Given the description of an element on the screen output the (x, y) to click on. 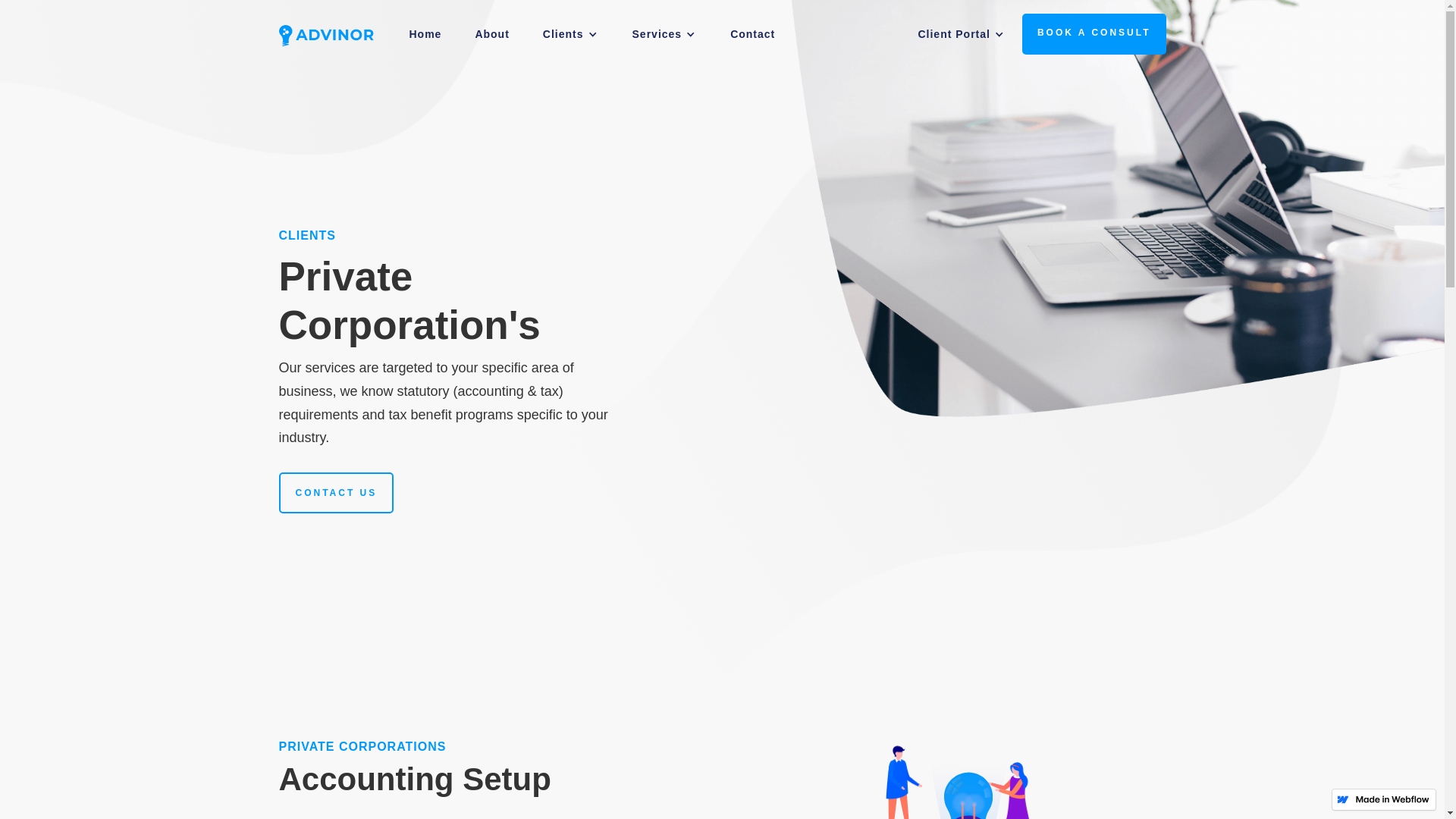
Home Element type: text (425, 33)
BOOK A CONSULT Element type: text (1094, 33)
Contact Element type: text (752, 33)
CONTACT US Element type: text (336, 492)
About Element type: text (491, 33)
